Given the description of an element on the screen output the (x, y) to click on. 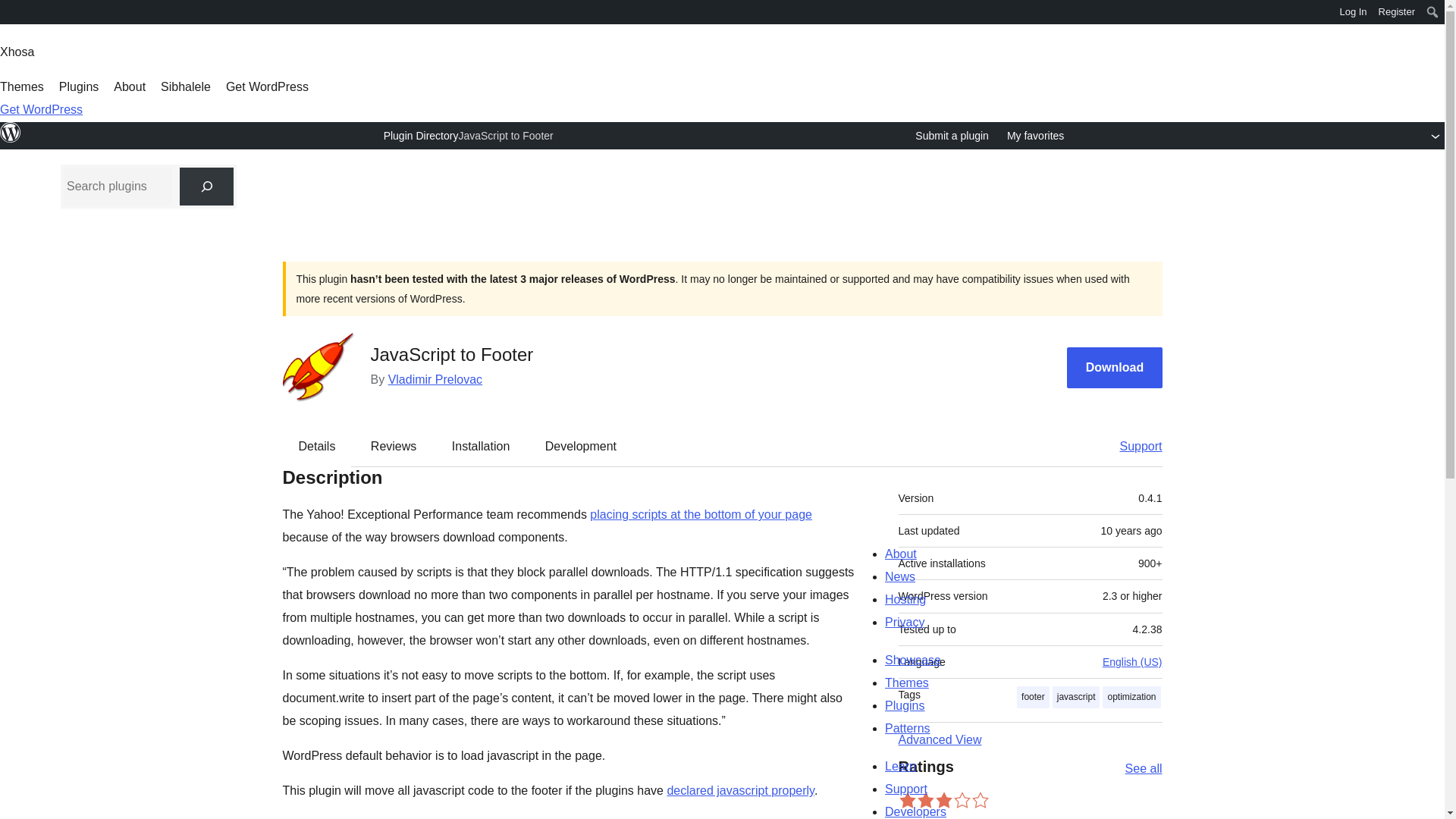
Plugin Directory (421, 135)
Submit a plugin (951, 135)
Sibhalele (185, 87)
Download (1114, 368)
Support (1132, 446)
WordPress.org (10, 16)
Vladimir Prelovac (434, 379)
WordPress.org (10, 139)
Themes (21, 87)
Get WordPress (41, 109)
